Given the description of an element on the screen output the (x, y) to click on. 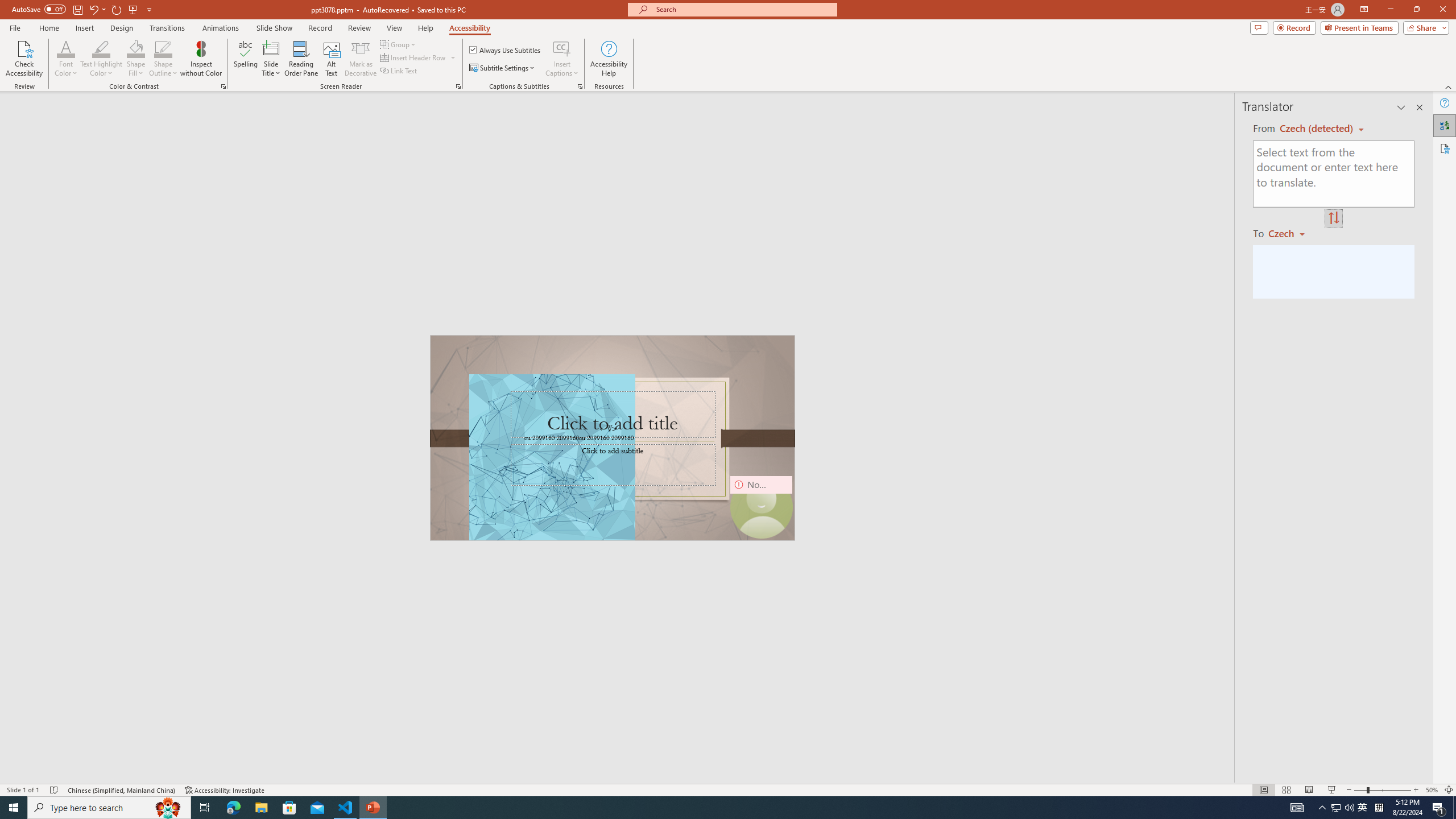
An abstract genetic concept (612, 437)
TextBox 7 (608, 428)
English (1317, 128)
Subtitle Settings (502, 67)
